Given the description of an element on the screen output the (x, y) to click on. 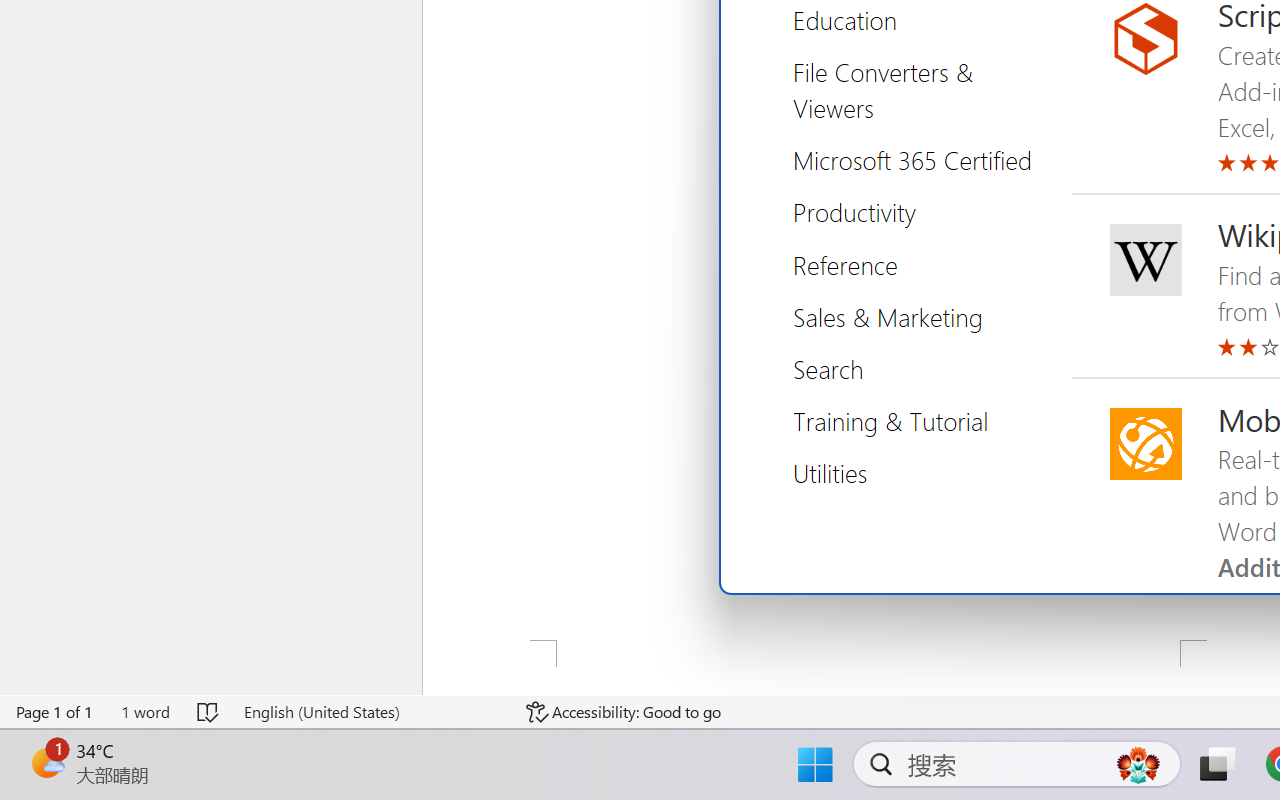
Category Group Productivity 9 of 14 (861, 211)
Accessibility Checker Accessibility: Good to go (623, 712)
Category Group File Converters & Viewers 7 of 14 (932, 89)
Wikipedia icon (1145, 260)
Category Group Reference 10 of 14 (852, 264)
